Given the description of an element on the screen output the (x, y) to click on. 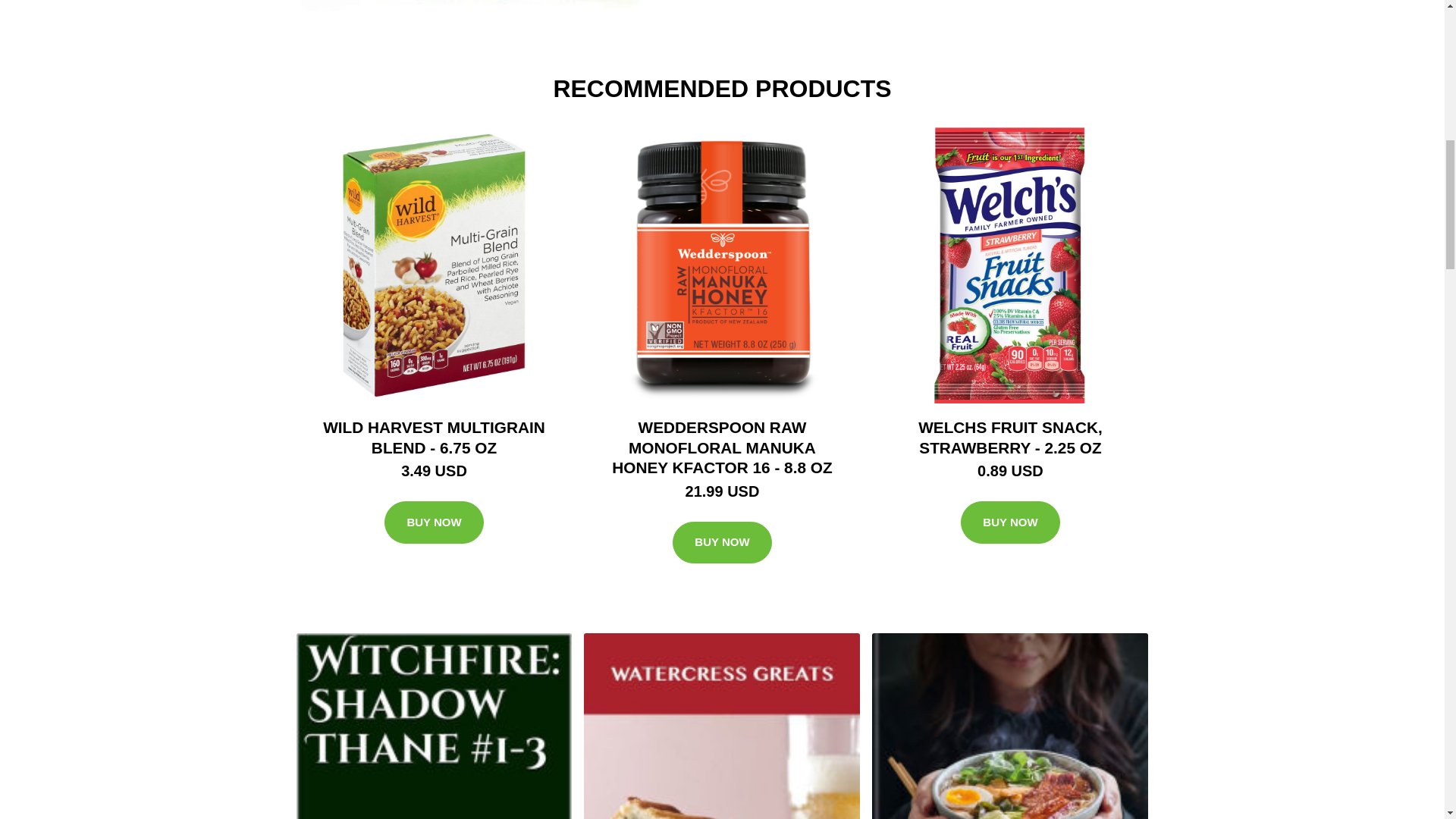
WILD HARVEST MULTIGRAIN BLEND - 6.75 OZ (433, 437)
BUY NOW (1009, 522)
BUY NOW (433, 522)
WELCHS FRUIT SNACK, STRAWBERRY - 2.25 OZ (1010, 437)
WEDDERSPOON RAW MONOFLORAL MANUKA HONEY KFACTOR 16 - 8.8 OZ (721, 446)
BUY NOW (721, 542)
